Given the description of an element on the screen output the (x, y) to click on. 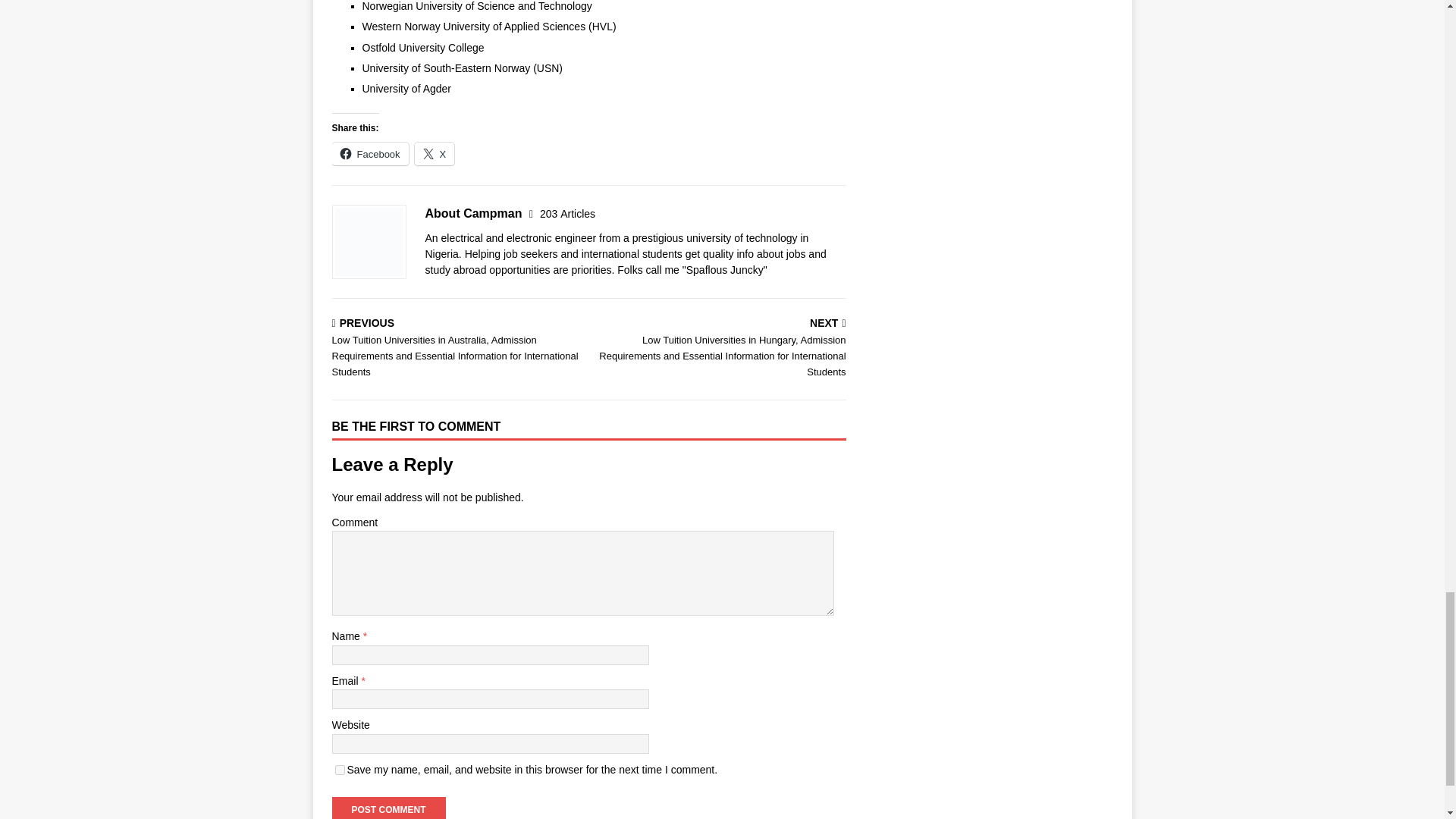
Click to share on Facebook (370, 153)
Click to share on X (434, 153)
Post Comment (388, 807)
Facebook (370, 153)
203 Articles (567, 214)
X (434, 153)
More articles written by Campman' (567, 214)
Post Comment (388, 807)
